Given the description of an element on the screen output the (x, y) to click on. 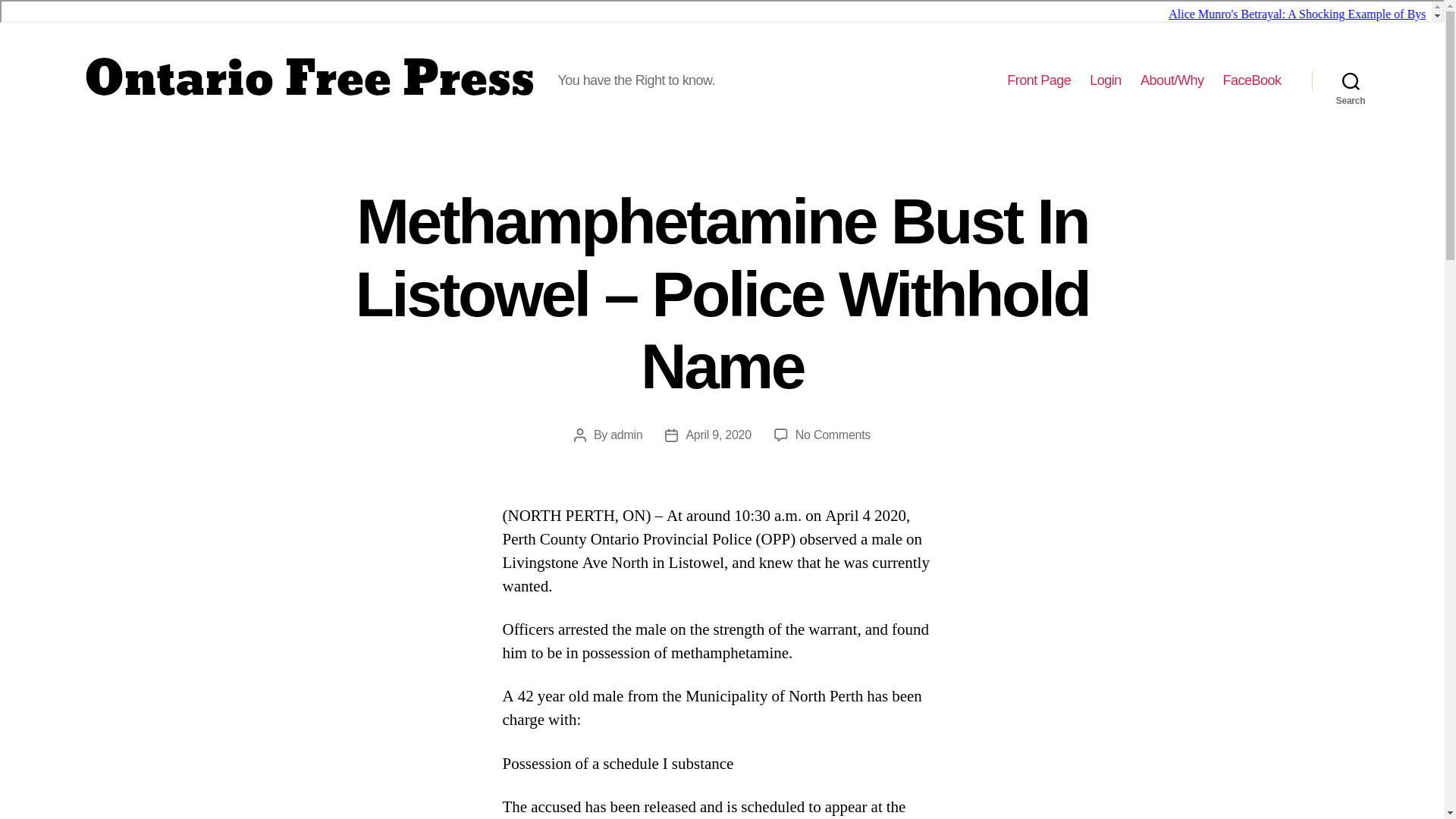
Search (1350, 80)
April 9, 2020 (718, 434)
Login (1105, 80)
admin (626, 434)
Front Page (1038, 80)
FaceBook (1252, 80)
